Given the description of an element on the screen output the (x, y) to click on. 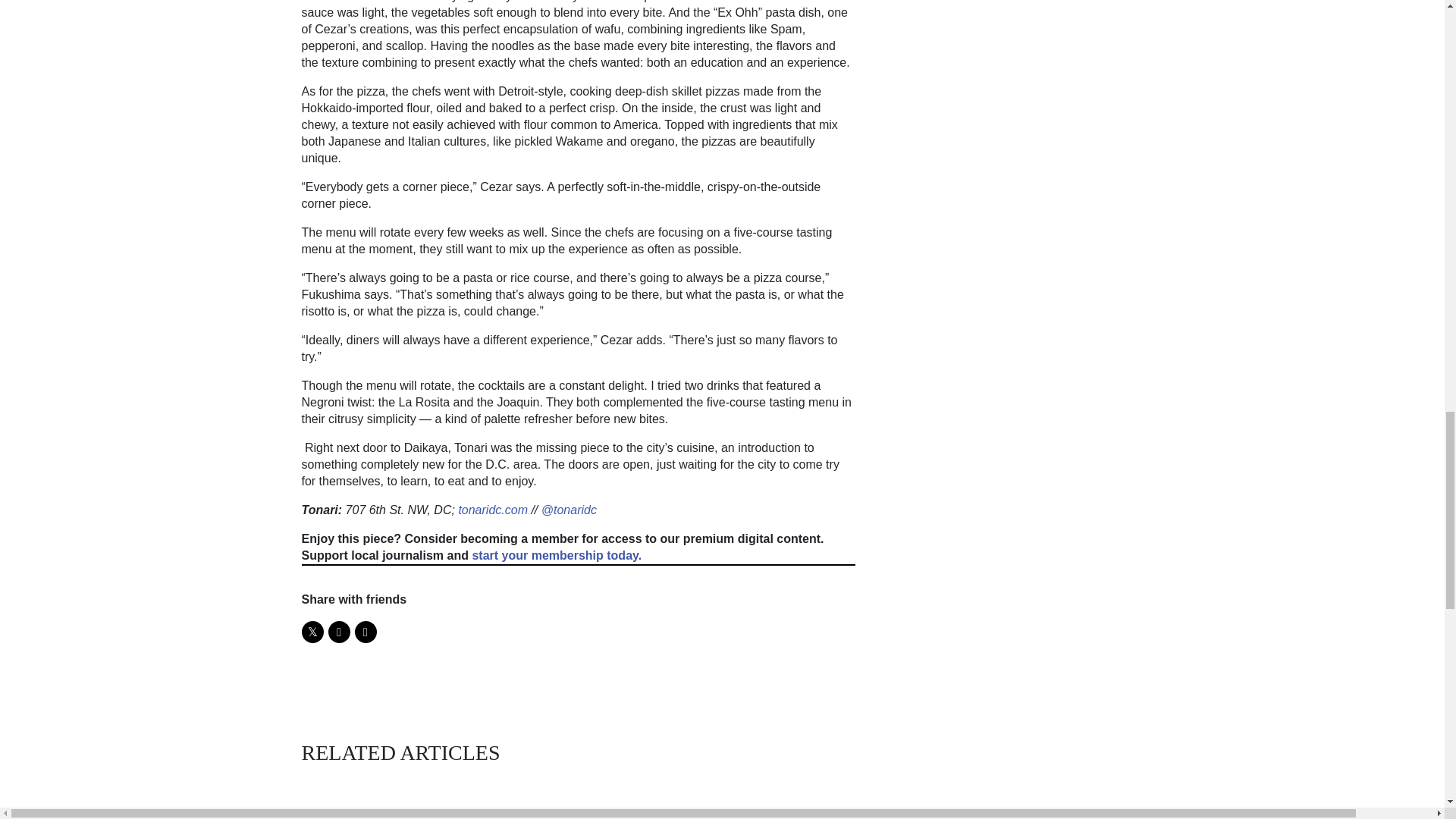
linkedin Share (366, 631)
Twitter share (312, 631)
Facebook share (338, 631)
